Given the description of an element on the screen output the (x, y) to click on. 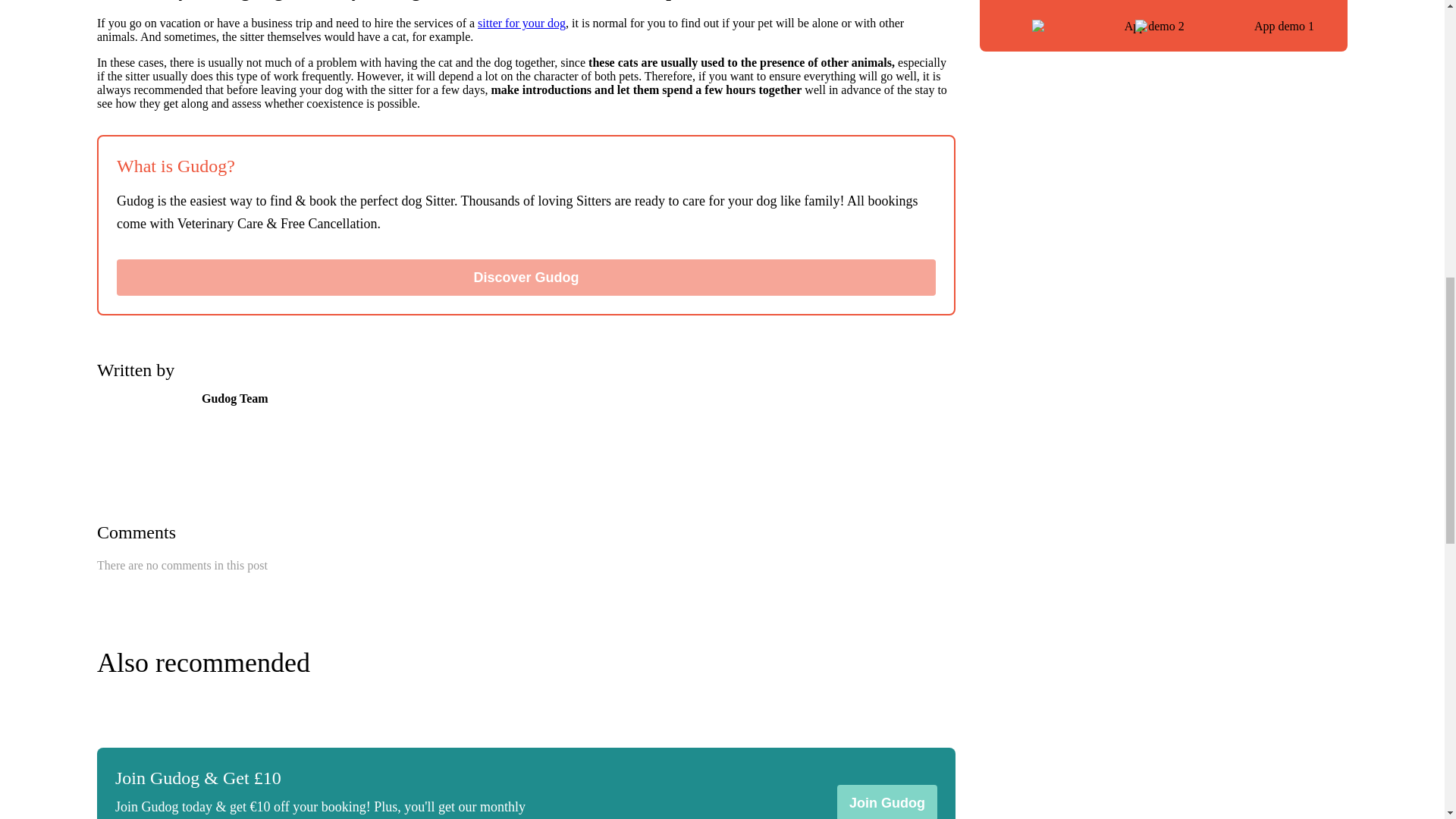
sitter for your dog (521, 22)
Discover Gudog (526, 277)
Join Gudog (887, 801)
